Given the description of an element on the screen output the (x, y) to click on. 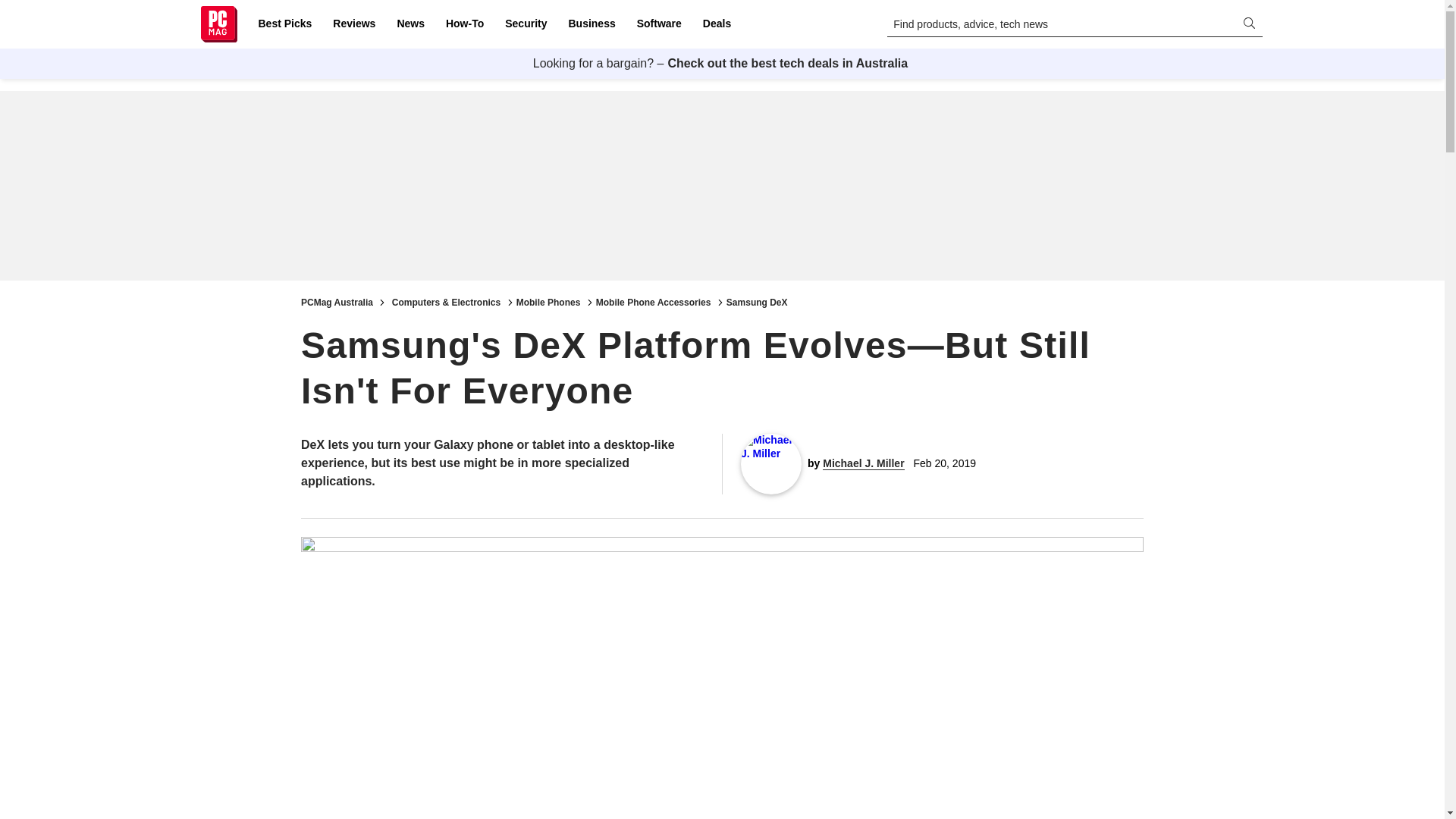
Business (591, 24)
Reviews (353, 24)
Security (526, 24)
How-To (464, 24)
Best Picks (284, 24)
